Given the description of an element on the screen output the (x, y) to click on. 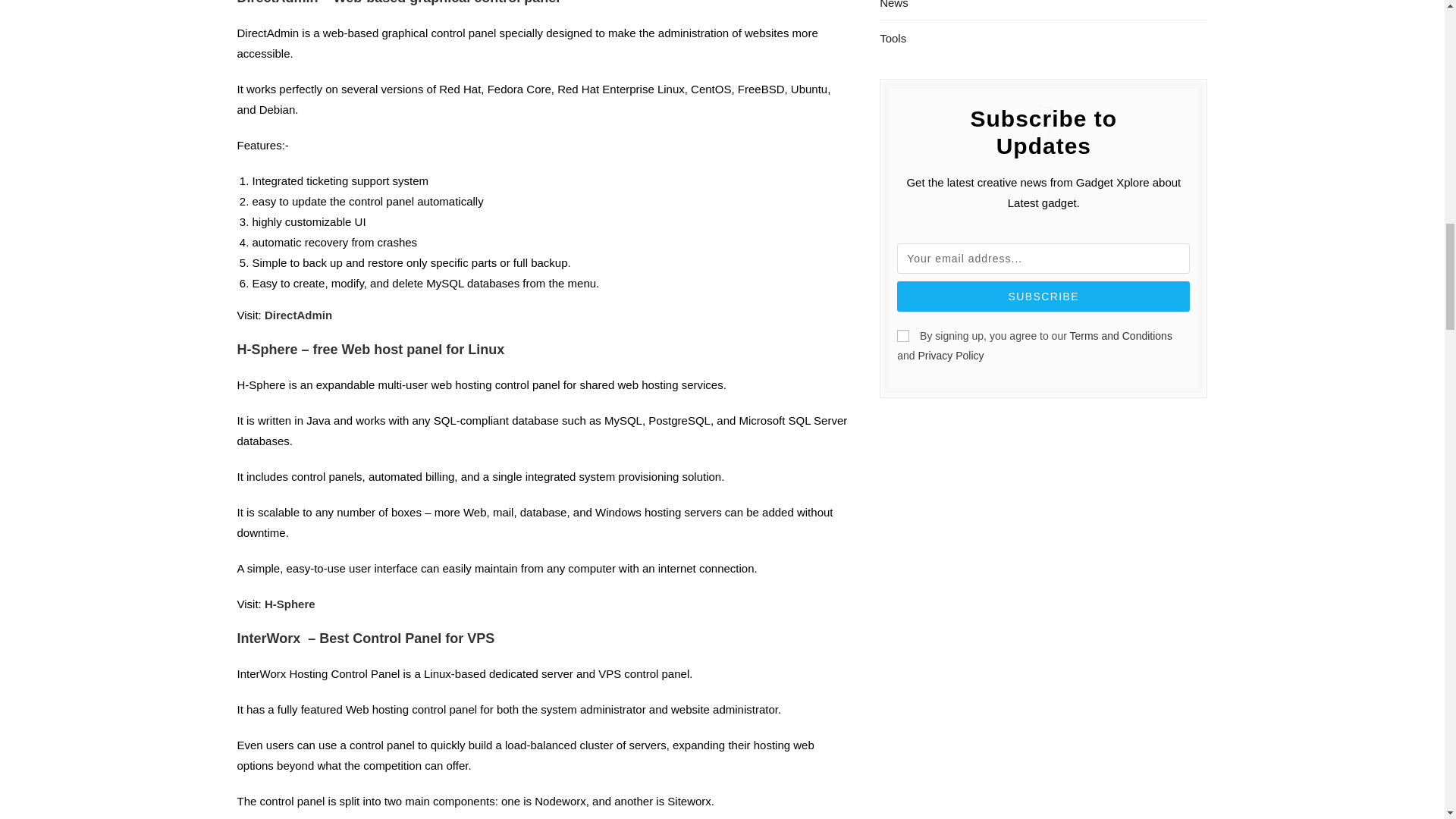
H-Sphere web hosting control panel (289, 603)
DirectAdmin - web hosting control panel (297, 314)
on (902, 336)
